Given the description of an element on the screen output the (x, y) to click on. 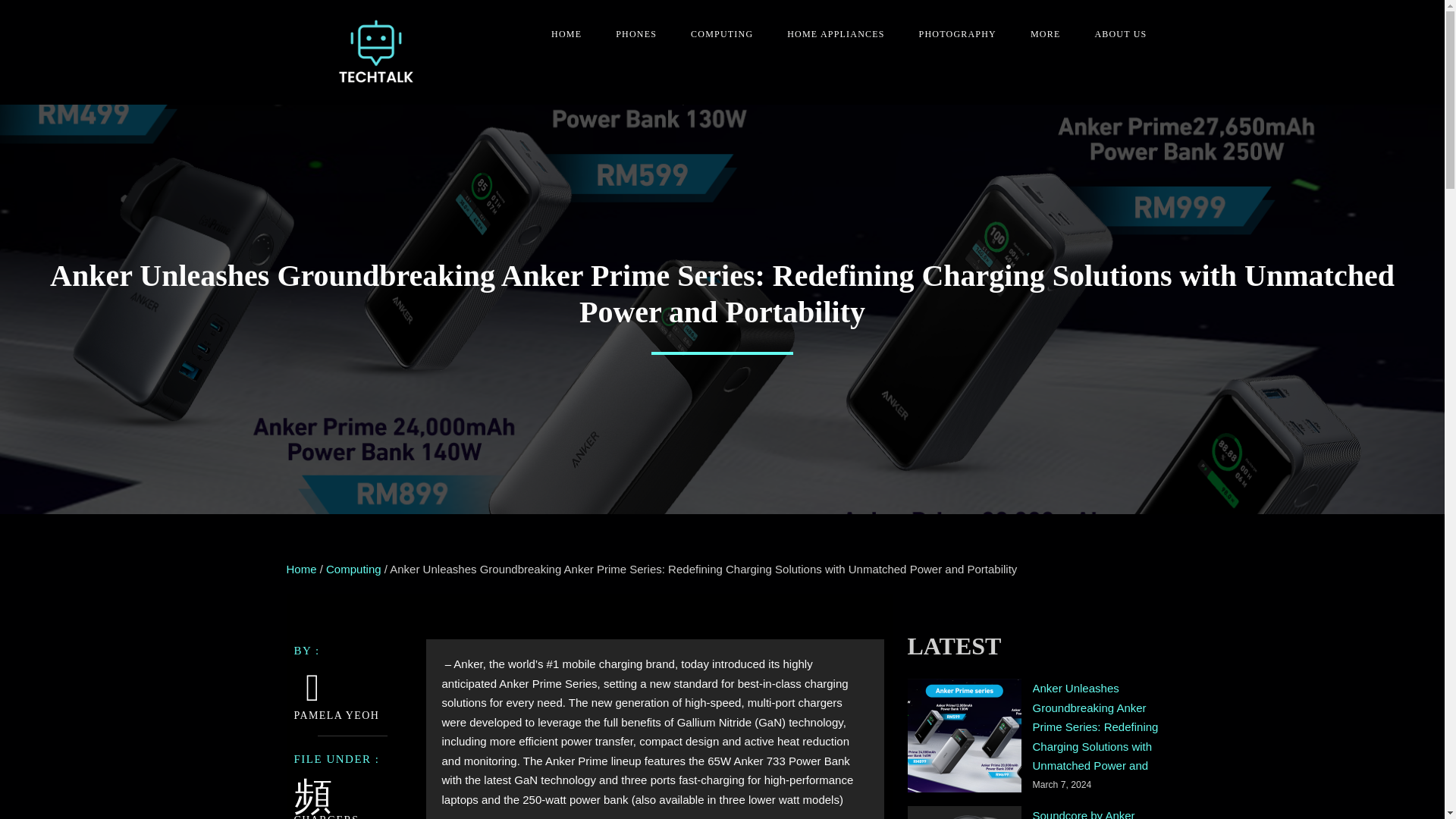
COMPUTING (716, 34)
HOME APPLIANCES (829, 34)
PHOTOGRAPHY (951, 34)
Home (301, 568)
CHARGERS (326, 816)
ABOUT US (1114, 34)
HOME (560, 34)
PHONES (630, 34)
